Given the description of an element on the screen output the (x, y) to click on. 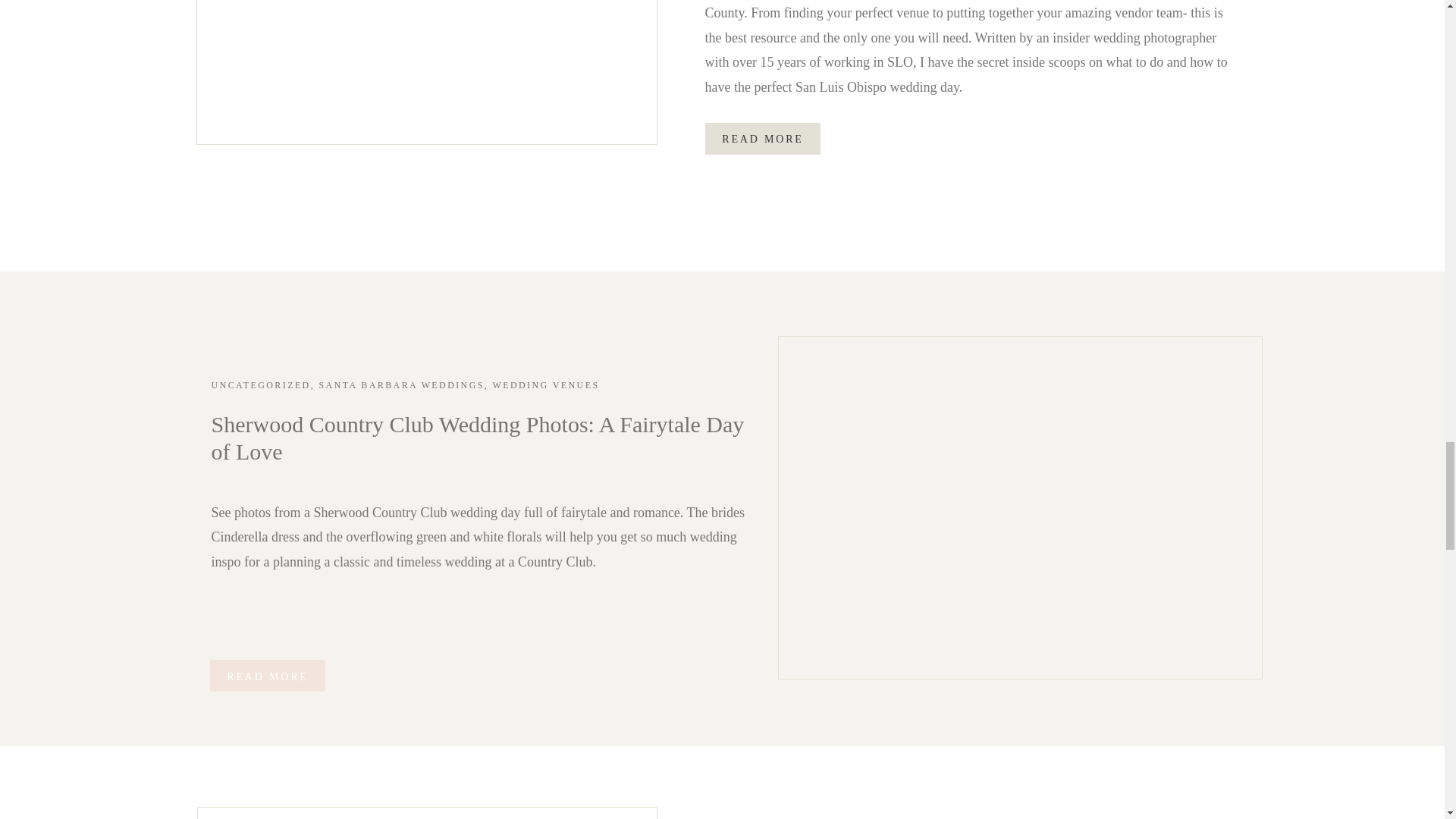
READ MORE (763, 138)
